Given the description of an element on the screen output the (x, y) to click on. 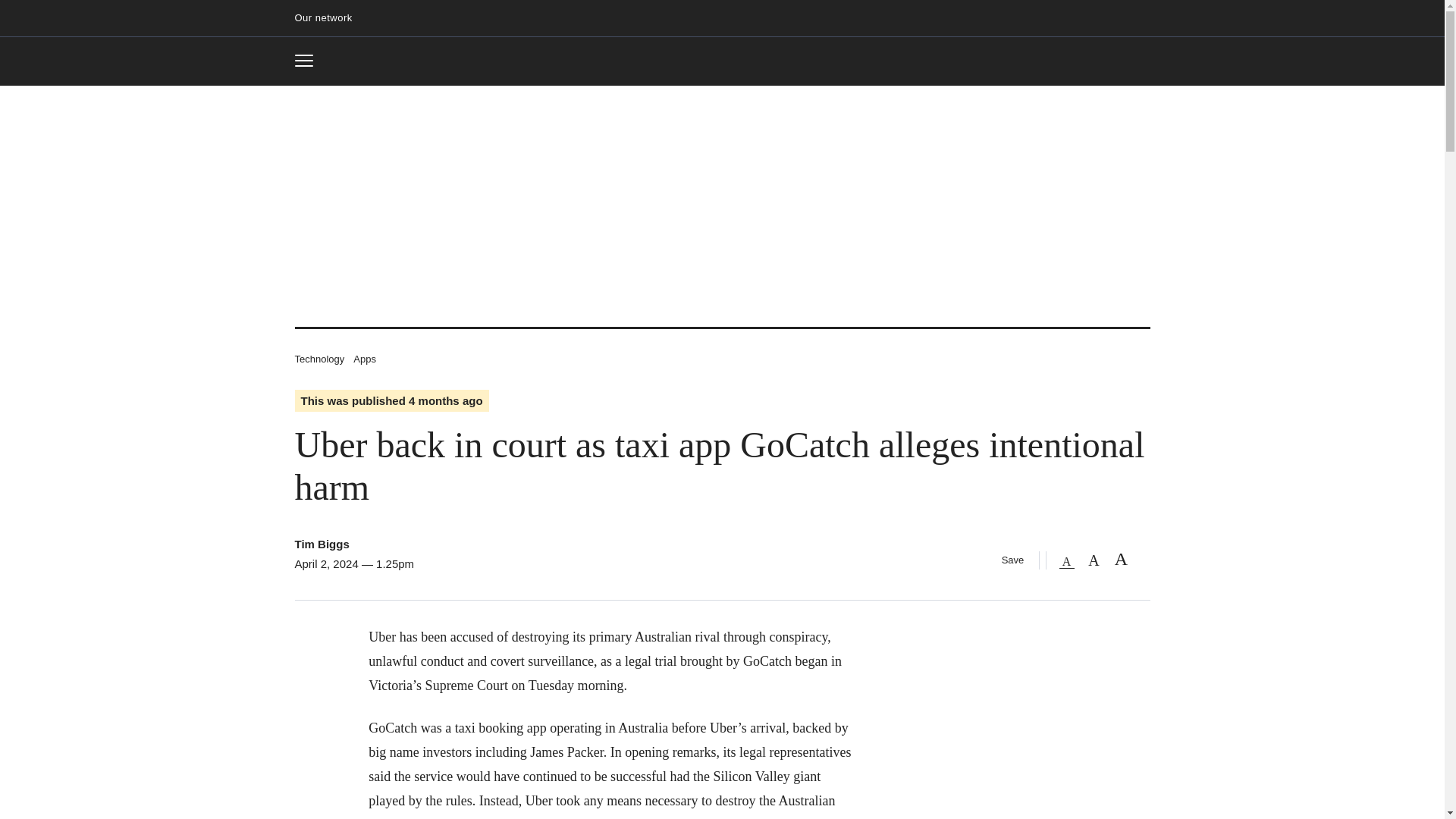
Technology (318, 358)
Our network (329, 17)
Articles by Tim Biggs (321, 543)
Apps (364, 358)
Brisbane Times (722, 61)
